Given the description of an element on the screen output the (x, y) to click on. 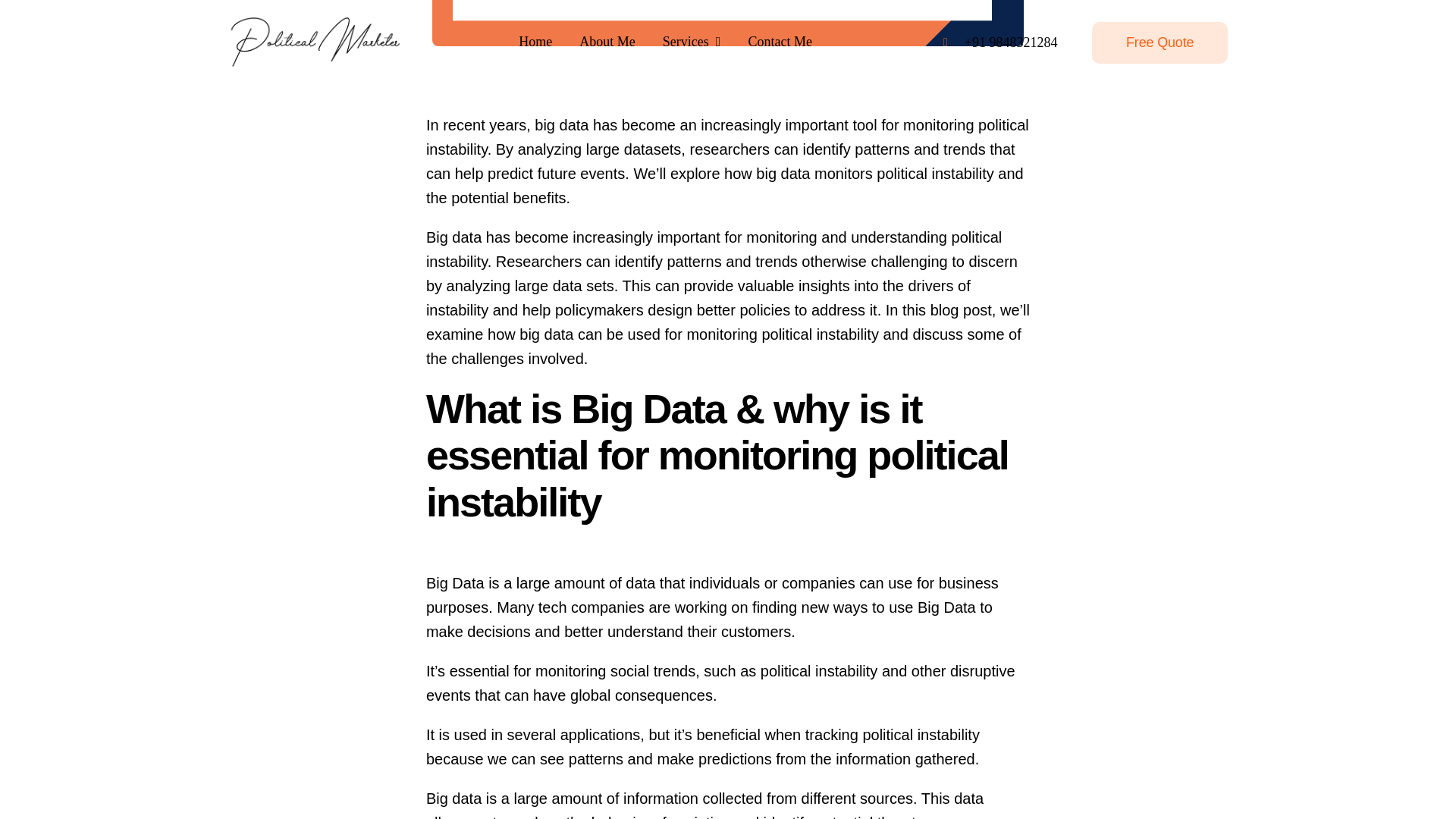
Big data (453, 237)
Political Instability (727, 22)
social trends (652, 670)
